Given the description of an element on the screen output the (x, y) to click on. 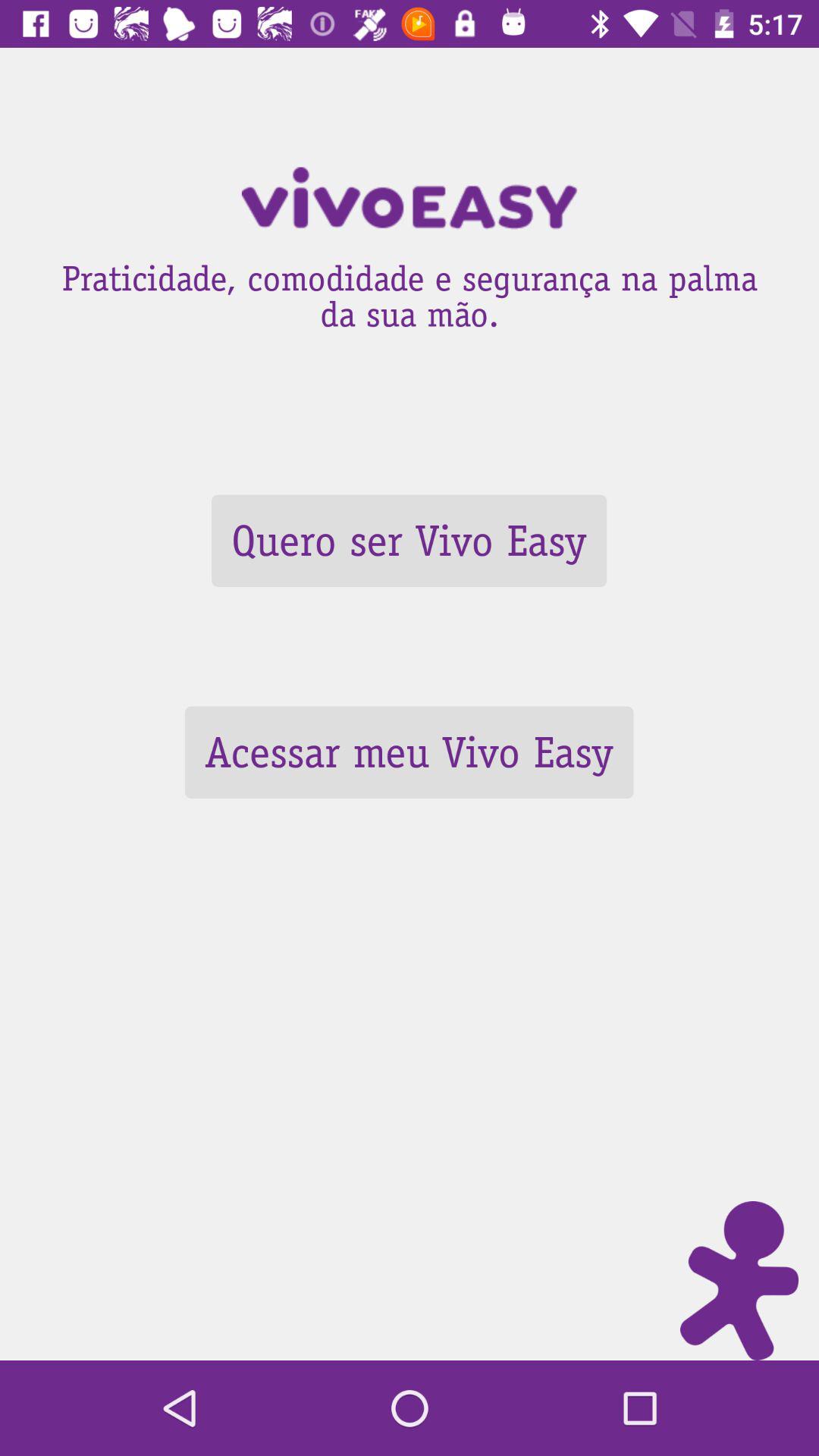
turn on acessar meu vivo icon (408, 752)
